Given the description of an element on the screen output the (x, y) to click on. 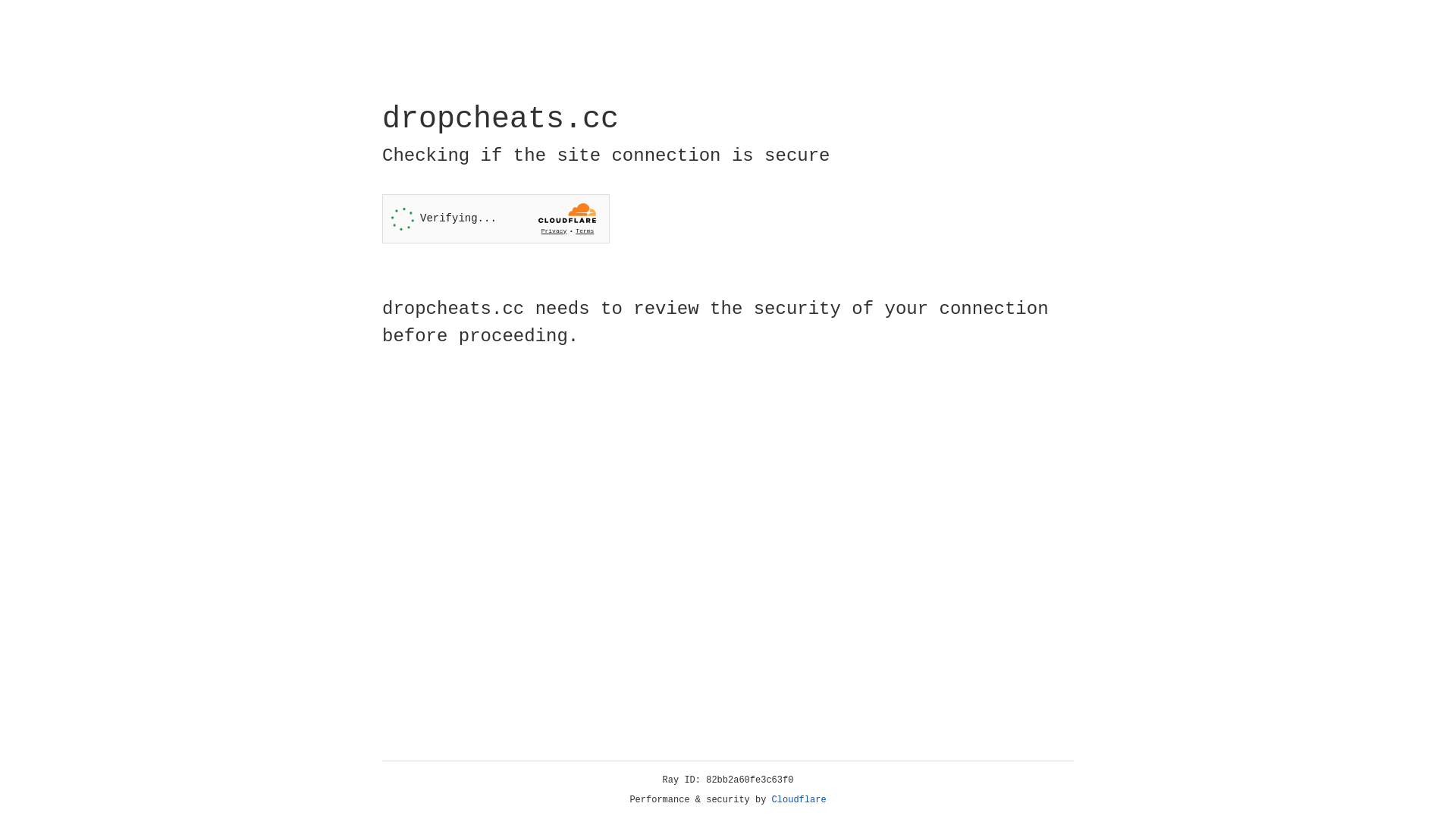
Widget containing a Cloudflare security challenge Element type: hover (495, 218)
Cloudflare Element type: text (798, 799)
